Given the description of an element on the screen output the (x, y) to click on. 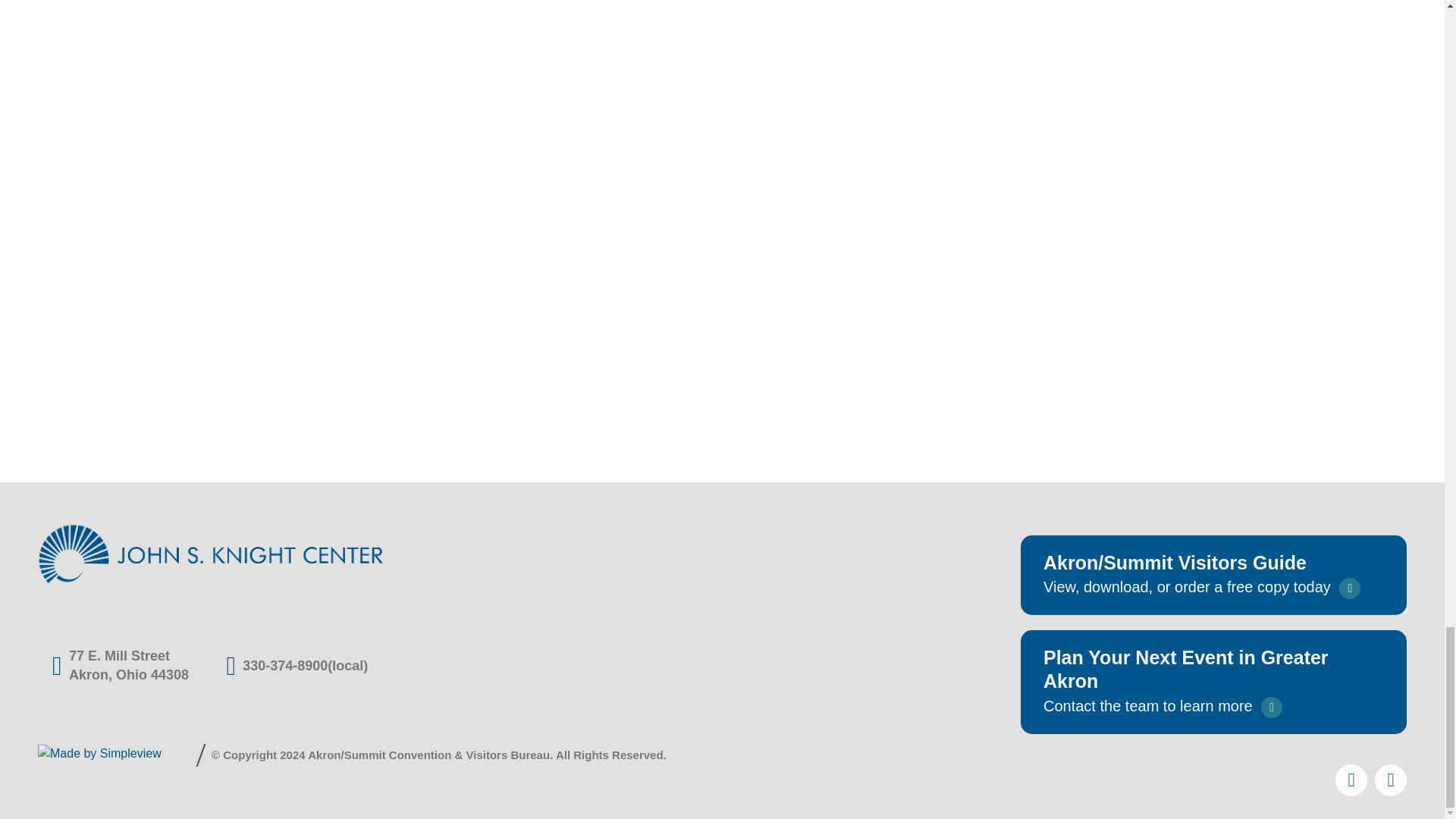
Visit our linkedin page (1351, 780)
Visit our facebook page (1390, 780)
